Given the description of an element on the screen output the (x, y) to click on. 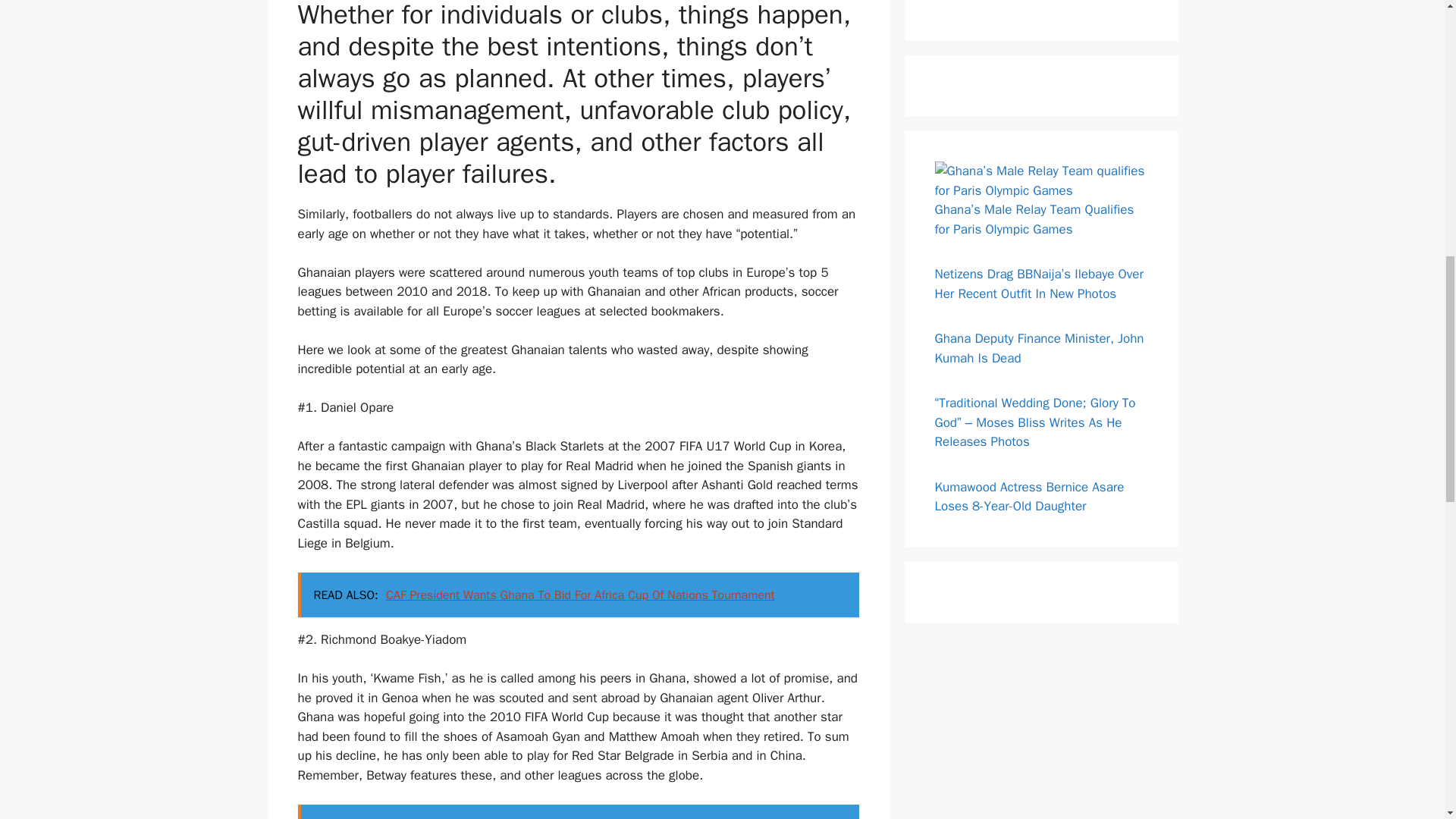
Ghana Deputy Finance Minister, John Kumah Is Dead (1038, 348)
Kumawood Actress Bernice Asare Loses 8-Year-Old Daughter (1029, 497)
